Given the description of an element on the screen output the (x, y) to click on. 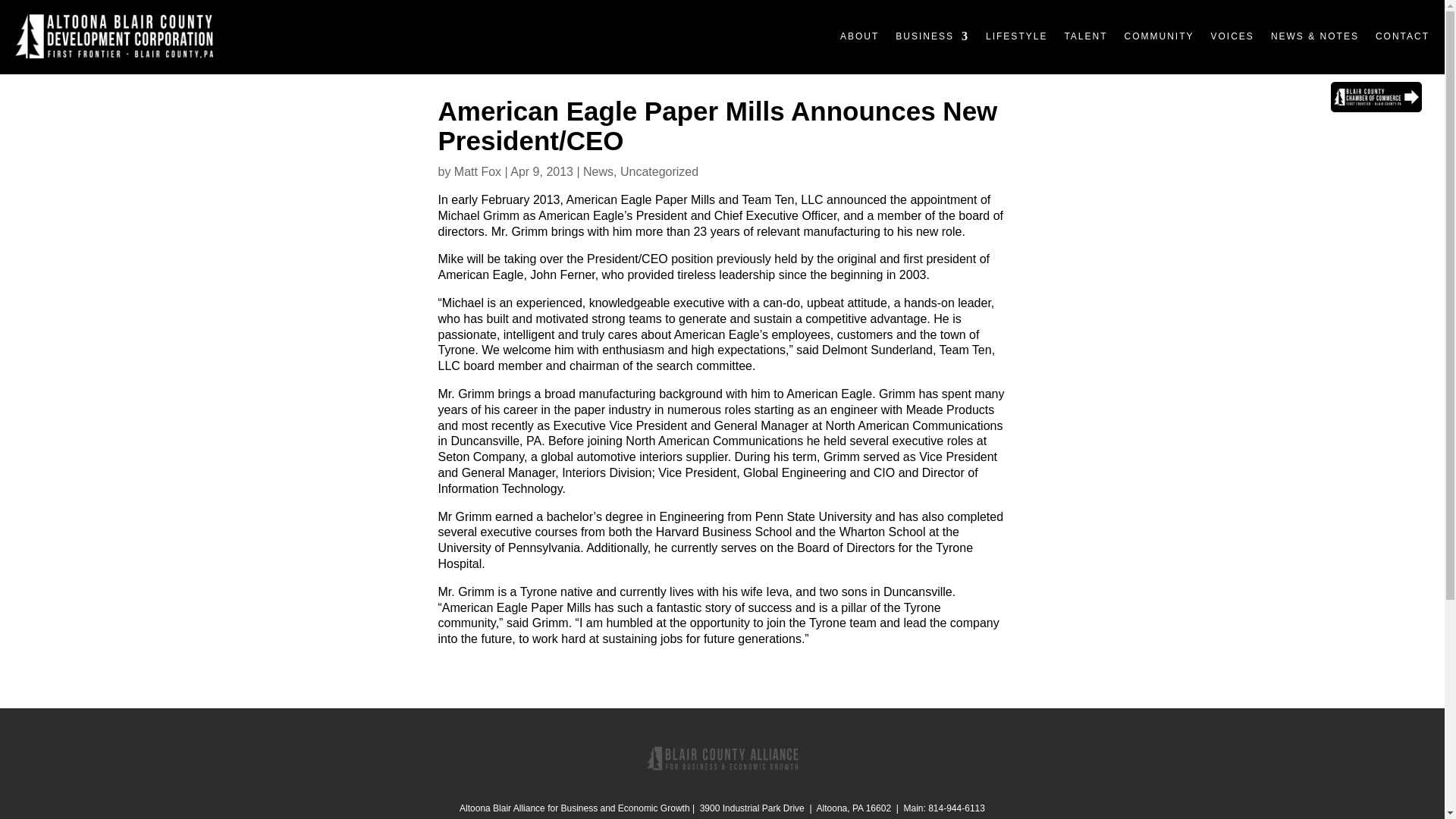
CONTACT (1402, 36)
Matt Fox (477, 171)
News (597, 171)
Uncategorized (659, 171)
BUSINESS (932, 36)
COMMUNITY (1158, 36)
LIFESTYLE (1015, 36)
